Given the description of an element on the screen output the (x, y) to click on. 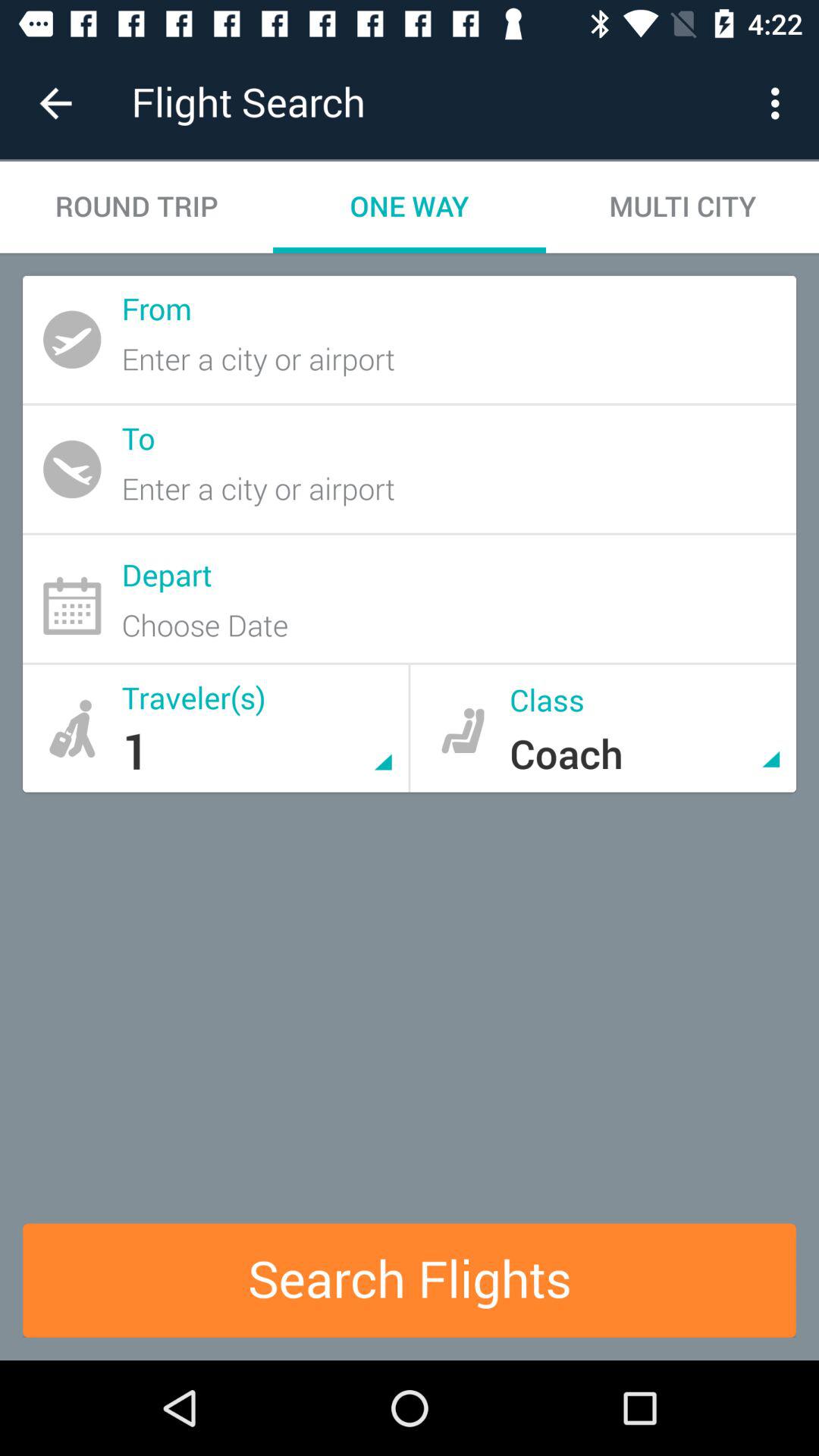
flip until multi city (682, 207)
